Given the description of an element on the screen output the (x, y) to click on. 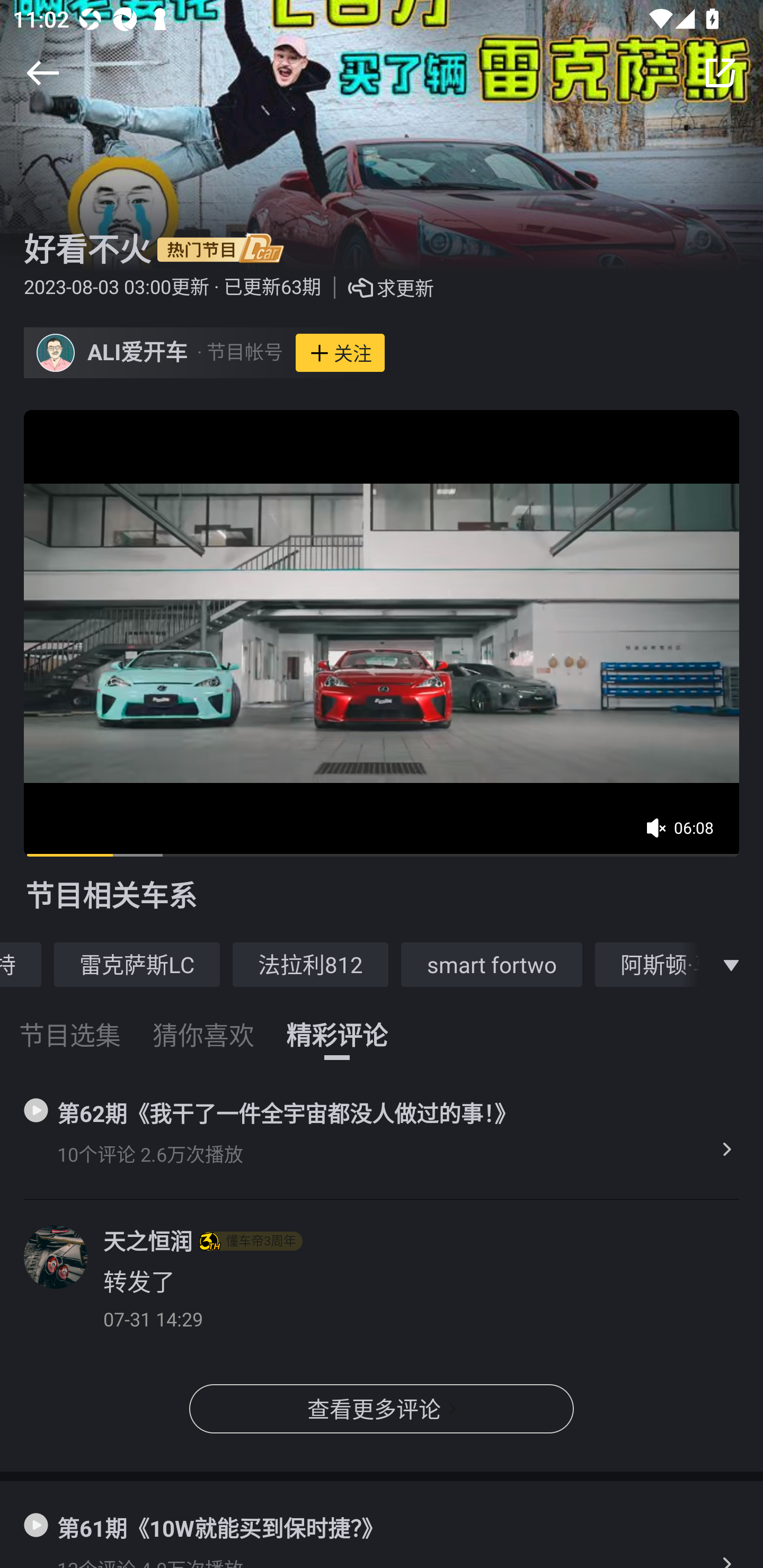
 (42, 72)
 (720, 72)
 求更新 (377, 287)
ALI爱开车 (137, 352)
· 节目帐号 (239, 352)
 关注 (340, 352)
06:08 (685, 834)
 (731, 963)
雷克萨斯LC (136, 964)
法拉利812 (310, 964)
smart fortwo (491, 964)
节目选集 (69, 1023)
猜你喜欢 (203, 1023)
精彩评论 (336, 1023)
第62期《我干了一件全宇宙都没人做过的事！》 10个评论 2.6万次播放 (381, 1132)
天之恒润 懂车帝3周年 转发了 07-31 14:29 (381, 1285)
天之恒润 (147, 1240)
懂车帝3周年 (250, 1240)
查看更多评论 (381, 1408)
第61期《10W就能买到保时捷？》 12个评论 4.0万次播放 (381, 1524)
